Given the description of an element on the screen output the (x, y) to click on. 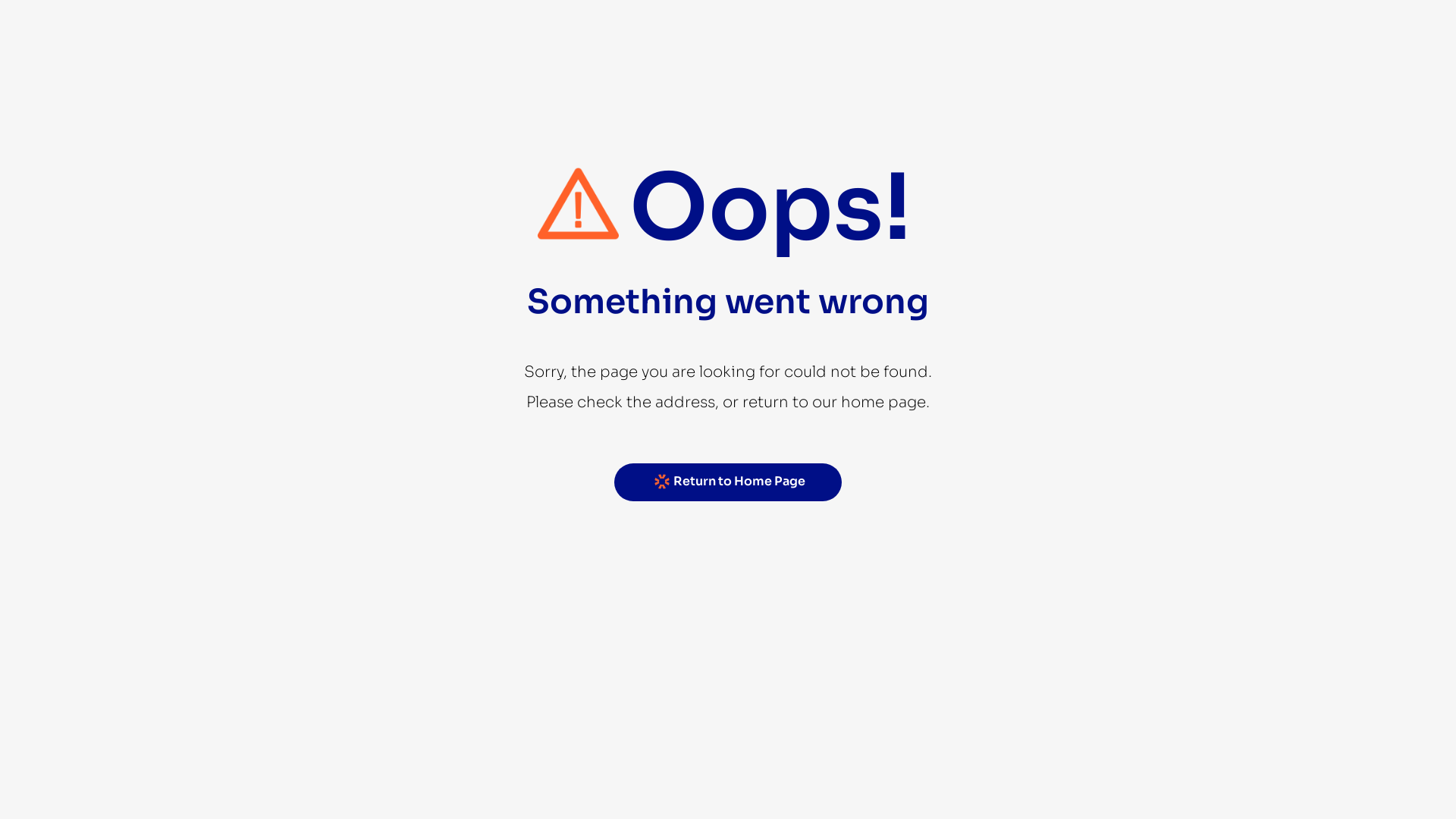
Return to Home Page Element type: text (727, 482)
